Given the description of an element on the screen output the (x, y) to click on. 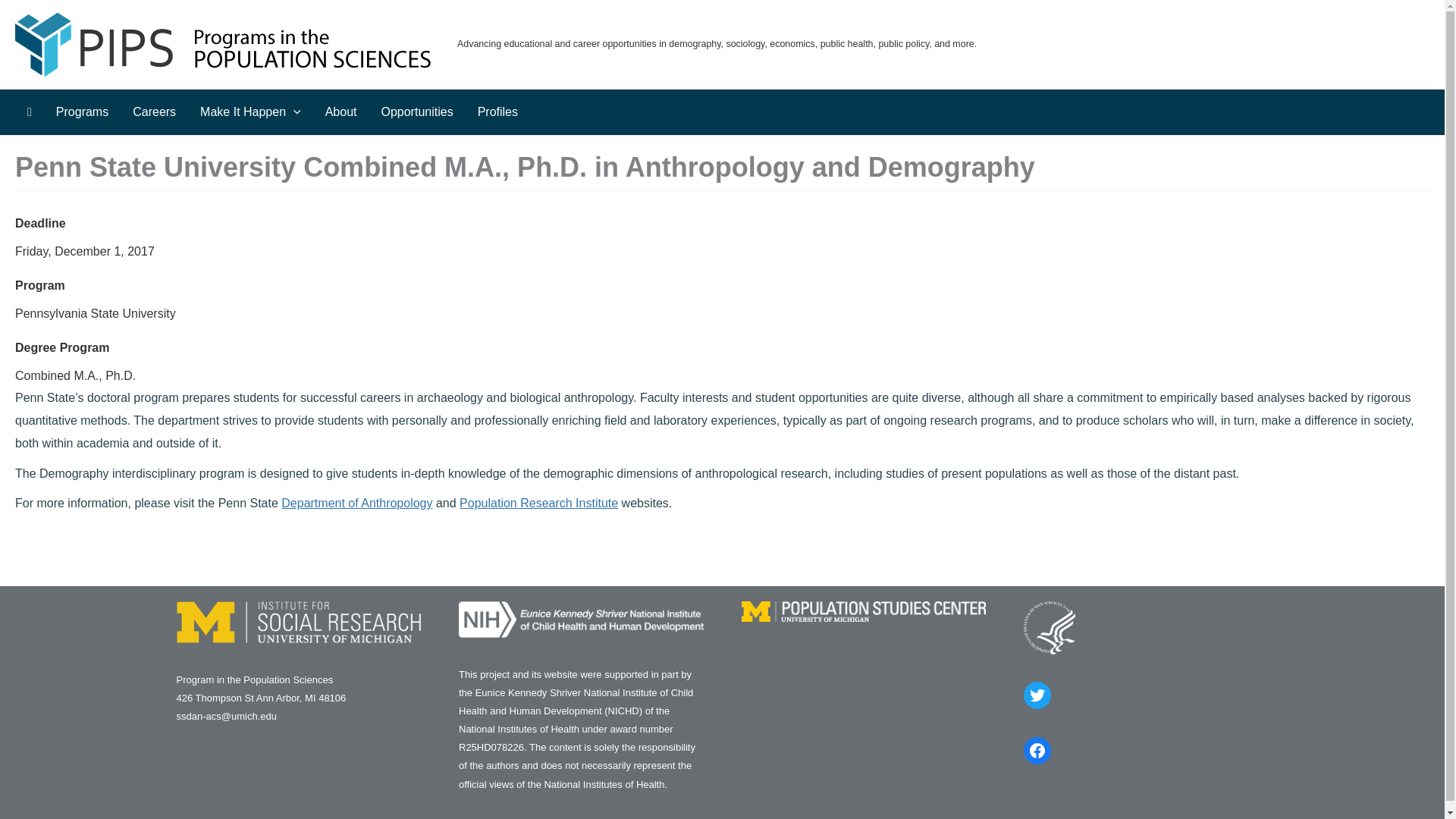
Twitter (1037, 695)
Facebook (1037, 750)
Population Research Institute (538, 502)
Careers (153, 112)
Profiles (497, 112)
Make It Happen (250, 112)
Opportunities (416, 112)
Programs (81, 112)
About (341, 112)
Department of Anthropology (356, 502)
